Given the description of an element on the screen output the (x, y) to click on. 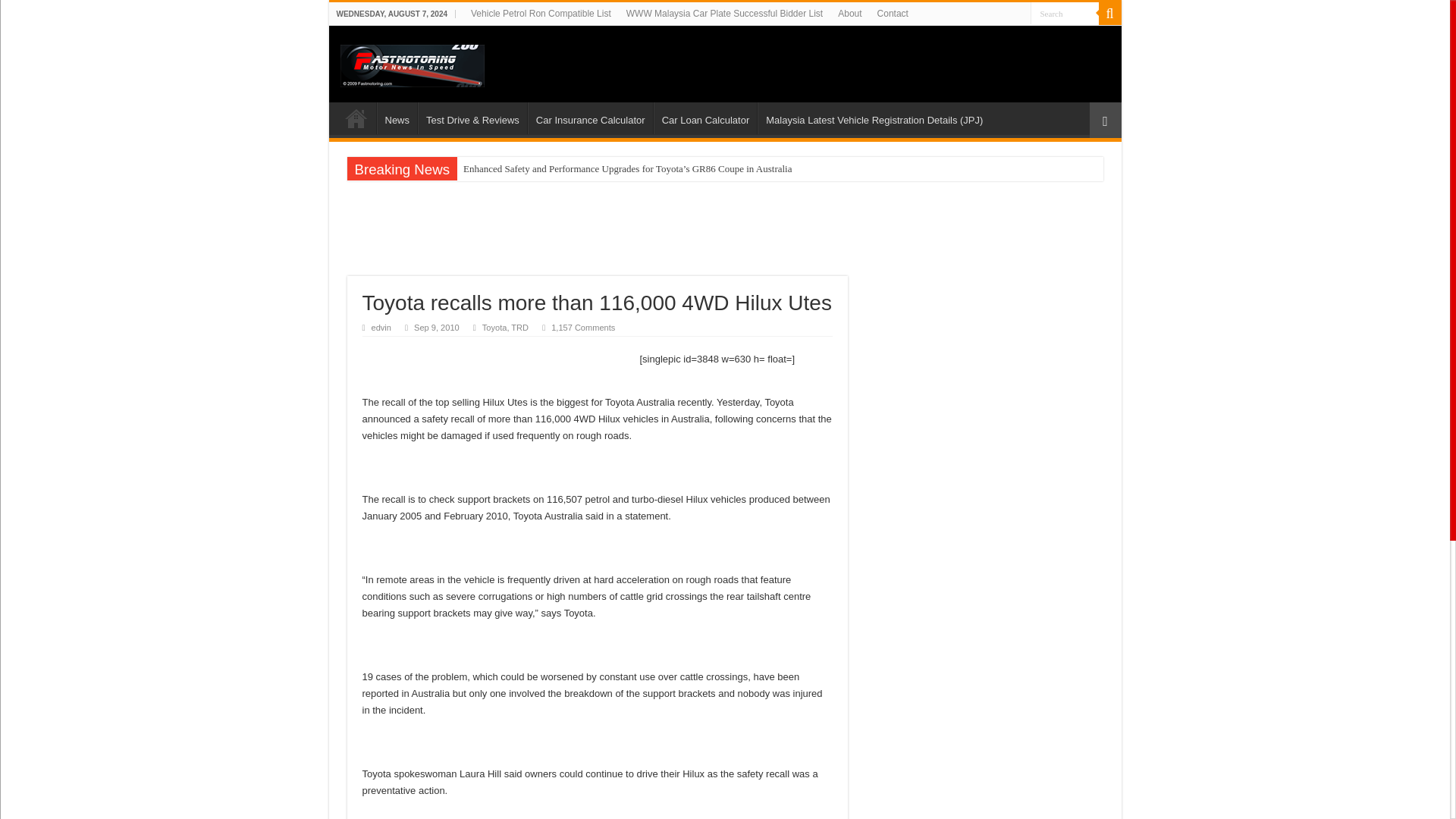
News (395, 118)
Search (1063, 13)
Random Article (1105, 120)
Contact (892, 13)
Search (1109, 13)
About (849, 13)
Toyota (493, 327)
WWW Malaysia Car Plate Successful Bidder List (723, 13)
1,157 Comments (588, 327)
TRD (519, 327)
edvin (381, 327)
FastMotoring (411, 63)
Car Insurance Calculator (589, 118)
Search (1063, 13)
Vehicle Petrol Ron Compatible List (540, 13)
